Given the description of an element on the screen output the (x, y) to click on. 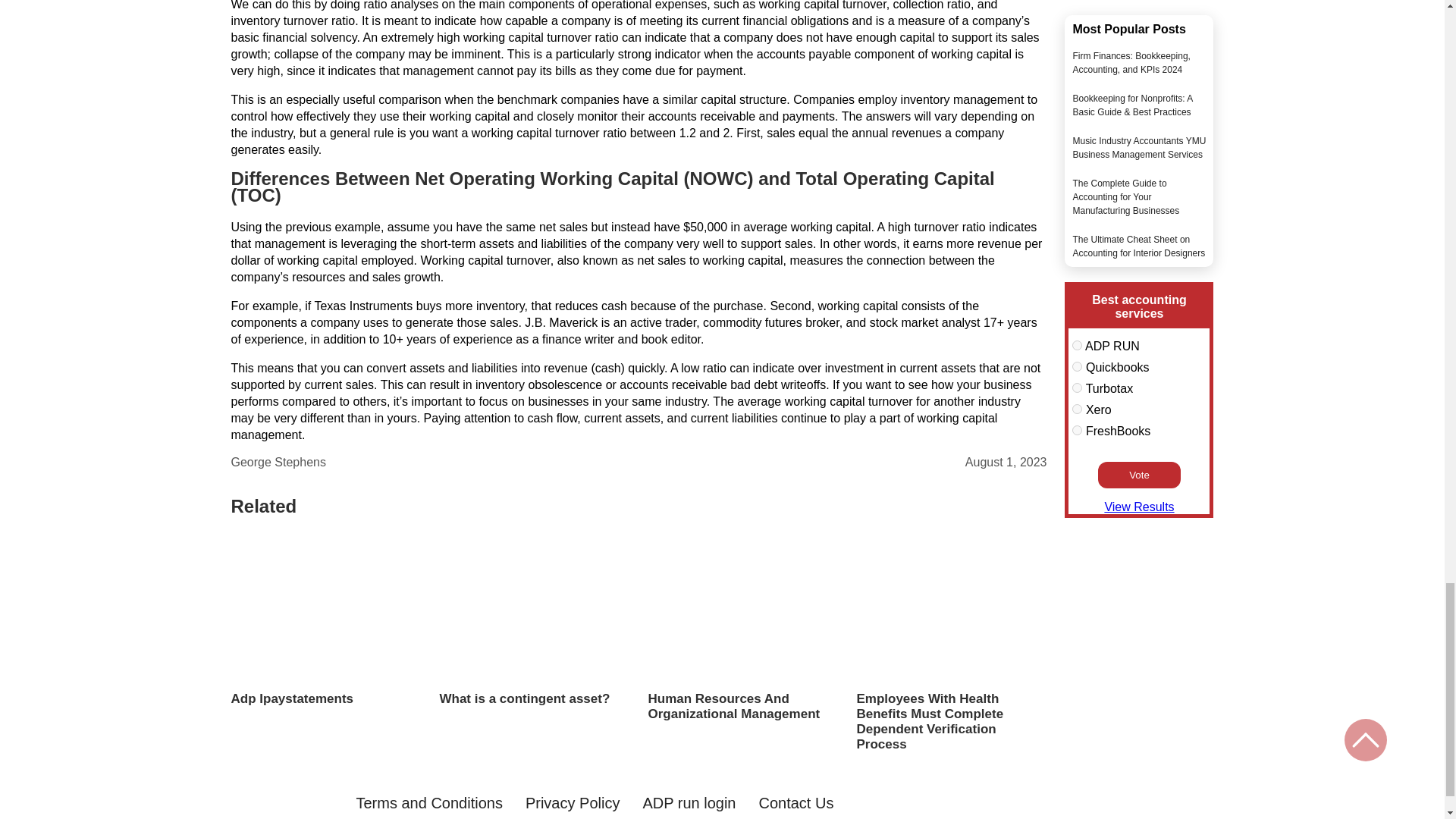
Contact Us (795, 803)
Adp Ipaystatements (325, 698)
Terms and Conditions (428, 803)
George Stephens (277, 462)
ADP run login (688, 803)
Human Resources And Organizational Management (742, 706)
Privacy Policy (572, 803)
What is a contingent asset? (533, 698)
